Given the description of an element on the screen output the (x, y) to click on. 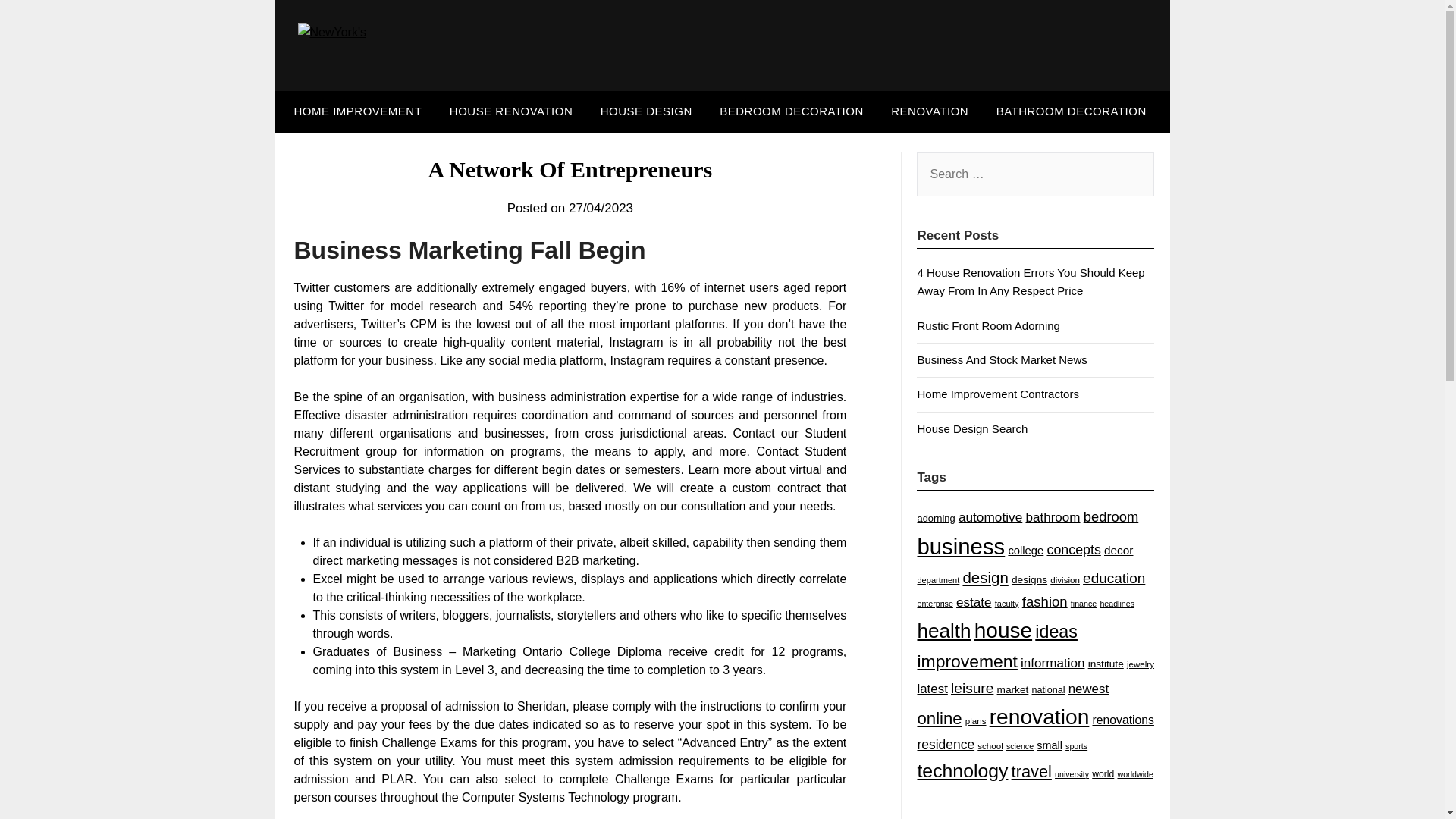
BEDROOM DECORATION (791, 110)
house (1003, 630)
enterprise (934, 603)
division (1064, 579)
education (1113, 578)
finance (1083, 603)
automotive (990, 516)
BATHROOM DECORATION (1071, 110)
decor (1117, 549)
bathroom (1052, 517)
Search (38, 22)
HOUSE DESIGN (646, 110)
health (944, 630)
business (960, 545)
improvement (966, 660)
